Given the description of an element on the screen output the (x, y) to click on. 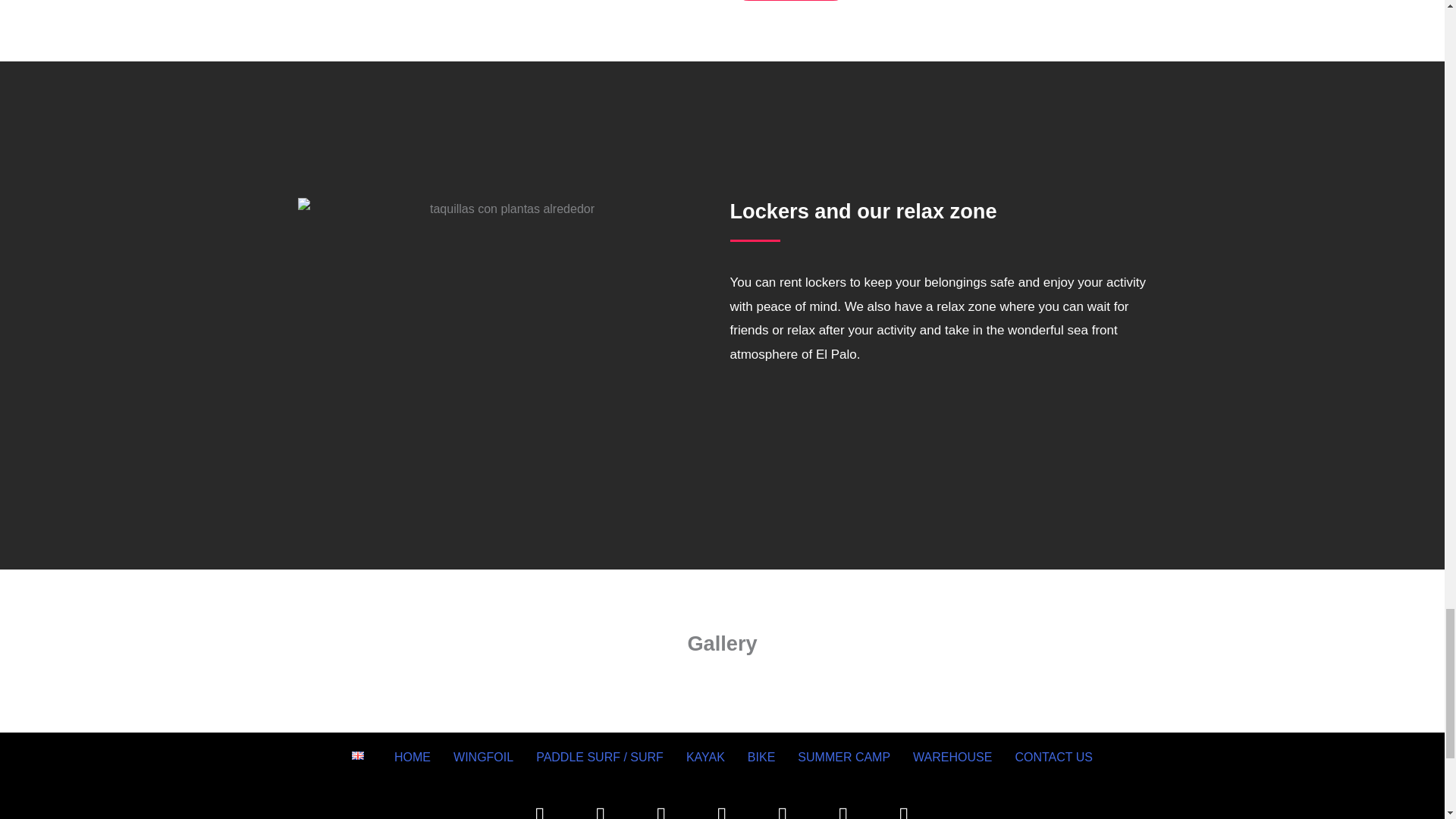
BIKE (761, 757)
HOME (412, 757)
WAREHOUSE (952, 757)
SUMMER CAMP (843, 757)
Instagram (601, 804)
KAYAK (705, 757)
Facebook (540, 804)
WINGFOIL (483, 757)
CONTACT US (1053, 757)
